Given the description of an element on the screen output the (x, y) to click on. 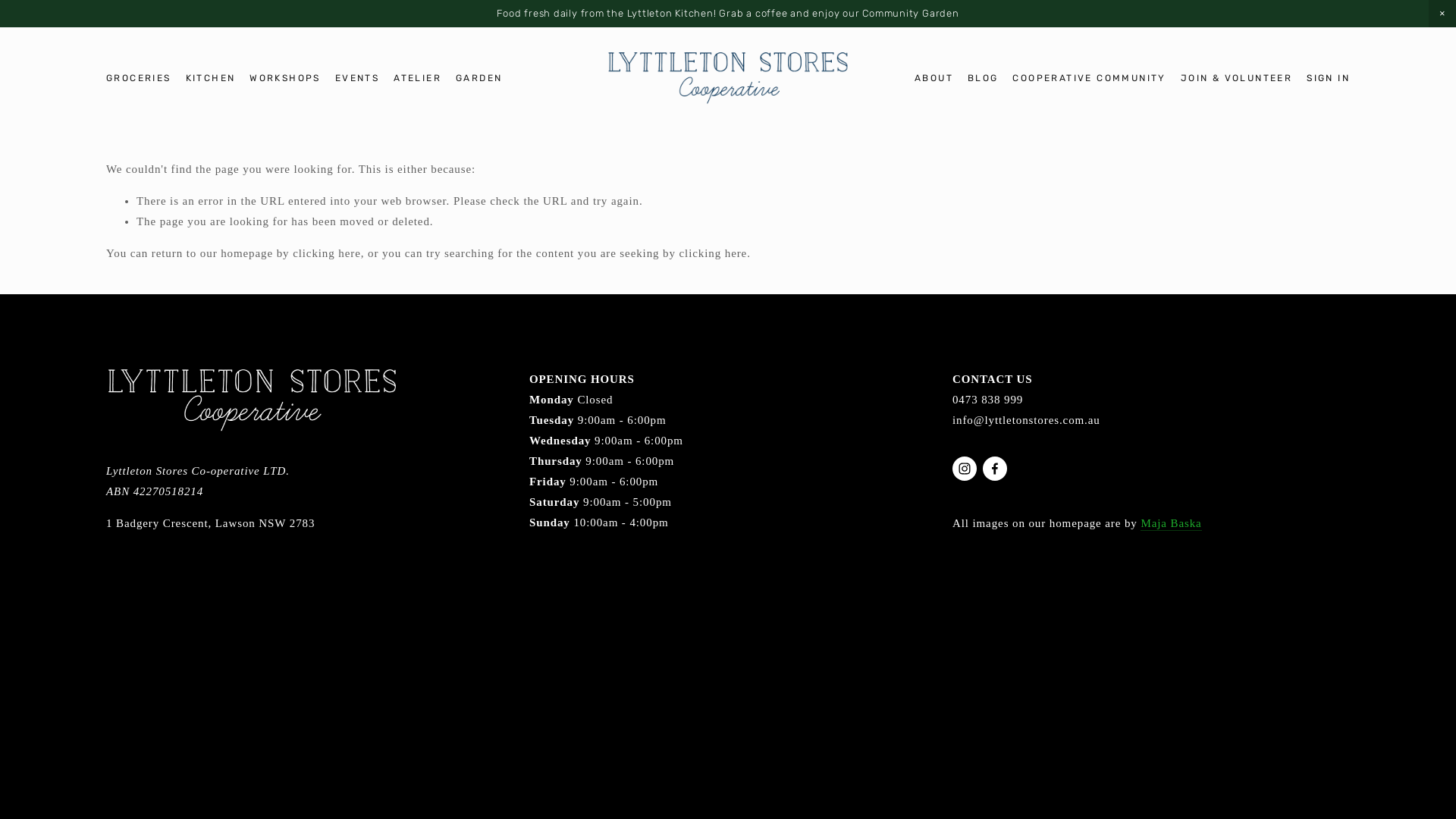
SIGN IN Element type: text (1327, 77)
JOIN & VOLUNTEER Element type: text (1236, 77)
GARDEN Element type: text (478, 77)
KITCHEN Element type: text (210, 77)
ATELIER Element type: text (417, 77)
WORKSHOPS Element type: text (284, 77)
Maja Baska Element type: text (1170, 523)
clicking here Element type: text (326, 253)
COOPERATIVE COMMUNITY Element type: text (1088, 77)
BLOG Element type: text (982, 78)
GROCERIES Element type: text (138, 77)
clicking here Element type: text (713, 253)
ABOUT Element type: text (933, 77)
EVENTS Element type: text (357, 77)
